Given the description of an element on the screen output the (x, y) to click on. 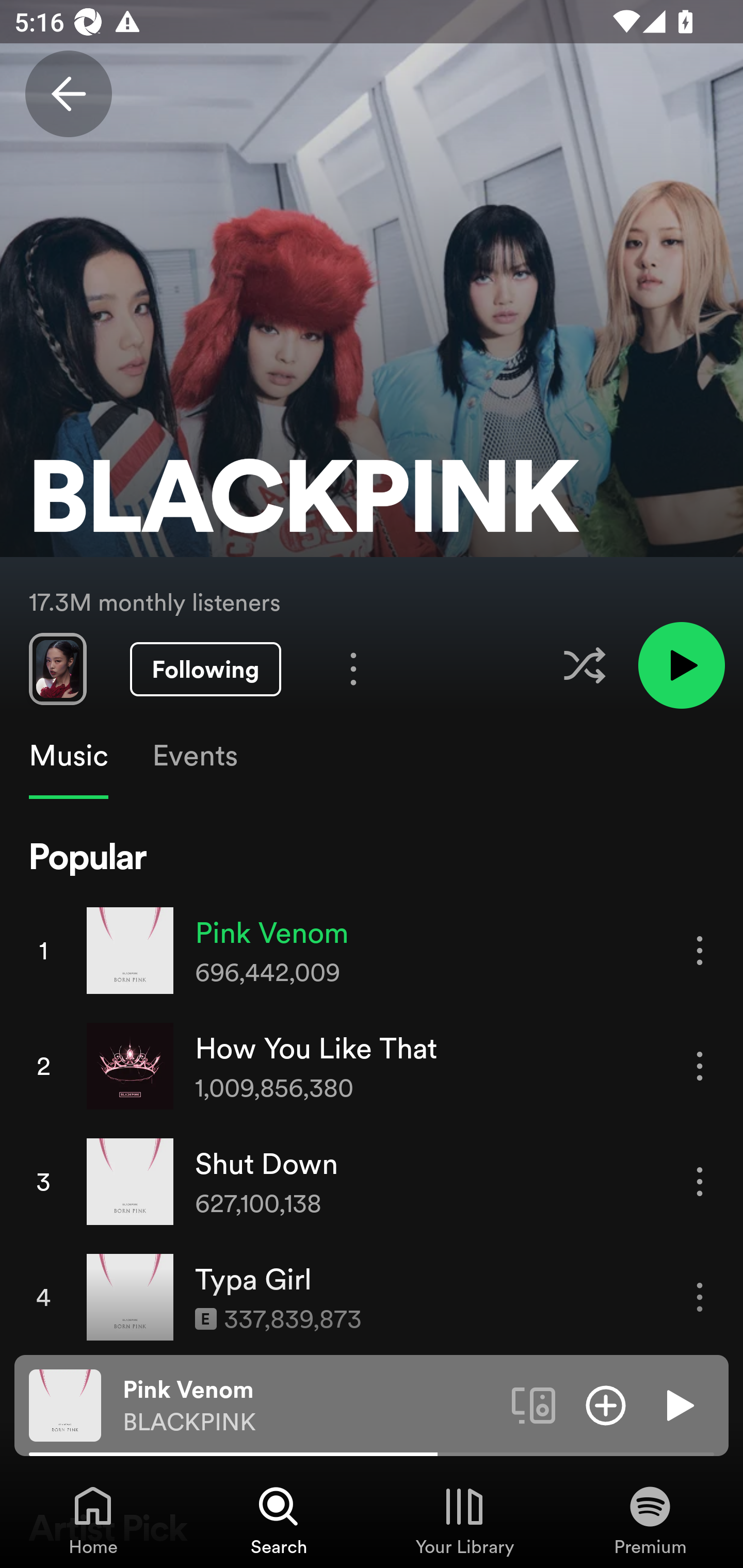
Back (68, 93)
Play artist (681, 664)
Enable shuffle for this artist (583, 665)
Swipe through previews of tracks from this artist. (57, 668)
More options for artist BLACKPINK (352, 668)
Following Unfollow (205, 669)
Events (194, 755)
More options for song Pink Venom (699, 950)
More options for song How You Like That (699, 1066)
More options for song Shut Down (699, 1181)
More options for song Typa Girl (699, 1297)
Pink Venom BLACKPINK (309, 1405)
The cover art of the currently playing track (64, 1404)
Connect to a device. Opens the devices menu (533, 1404)
Add item (605, 1404)
Play (677, 1404)
Home, Tab 1 of 4 Home Home (92, 1519)
Search, Tab 2 of 4 Search Search (278, 1519)
Your Library, Tab 3 of 4 Your Library Your Library (464, 1519)
Premium, Tab 4 of 4 Premium Premium (650, 1519)
